Given the description of an element on the screen output the (x, y) to click on. 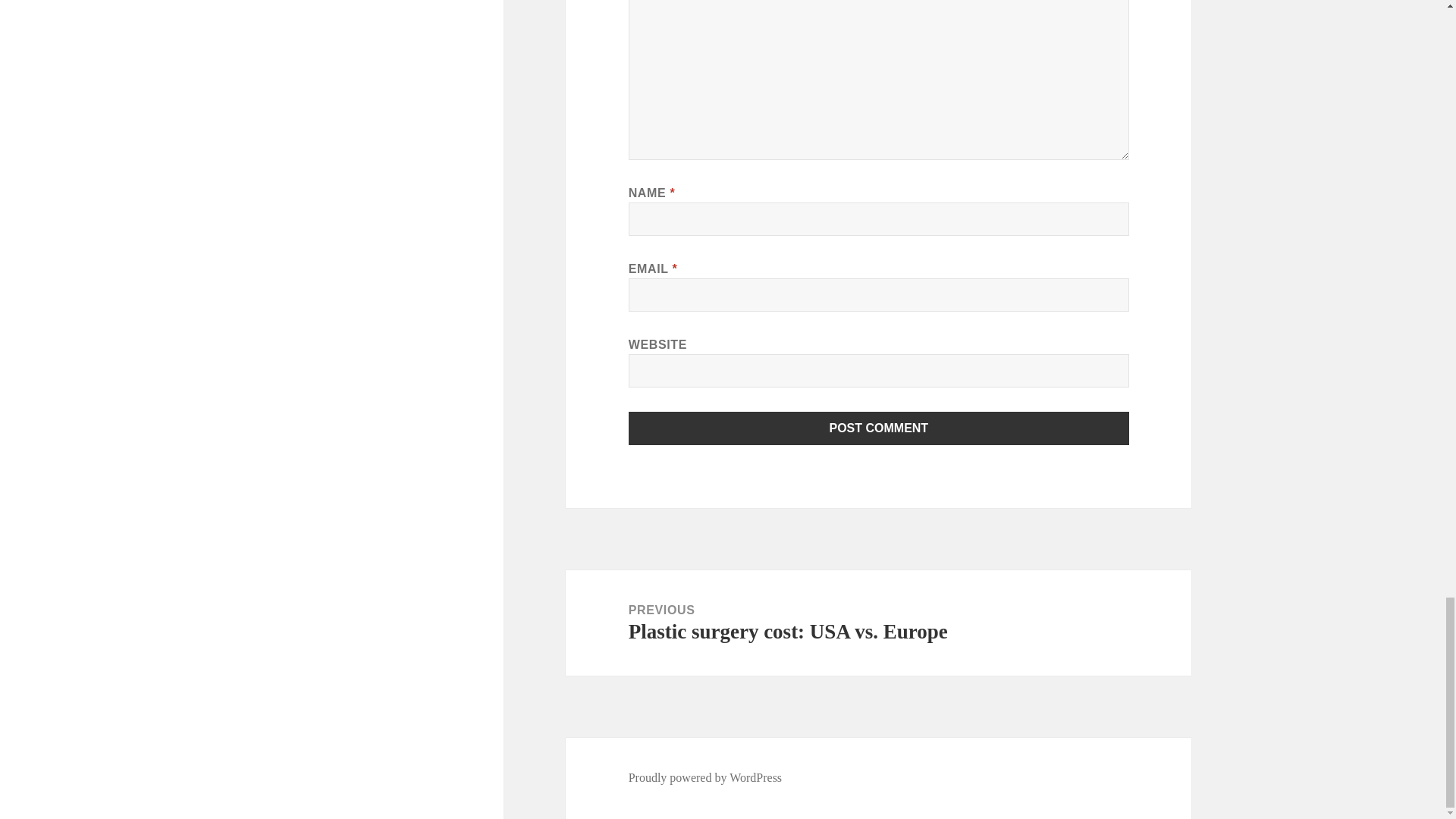
Post Comment (878, 428)
